Given the description of an element on the screen output the (x, y) to click on. 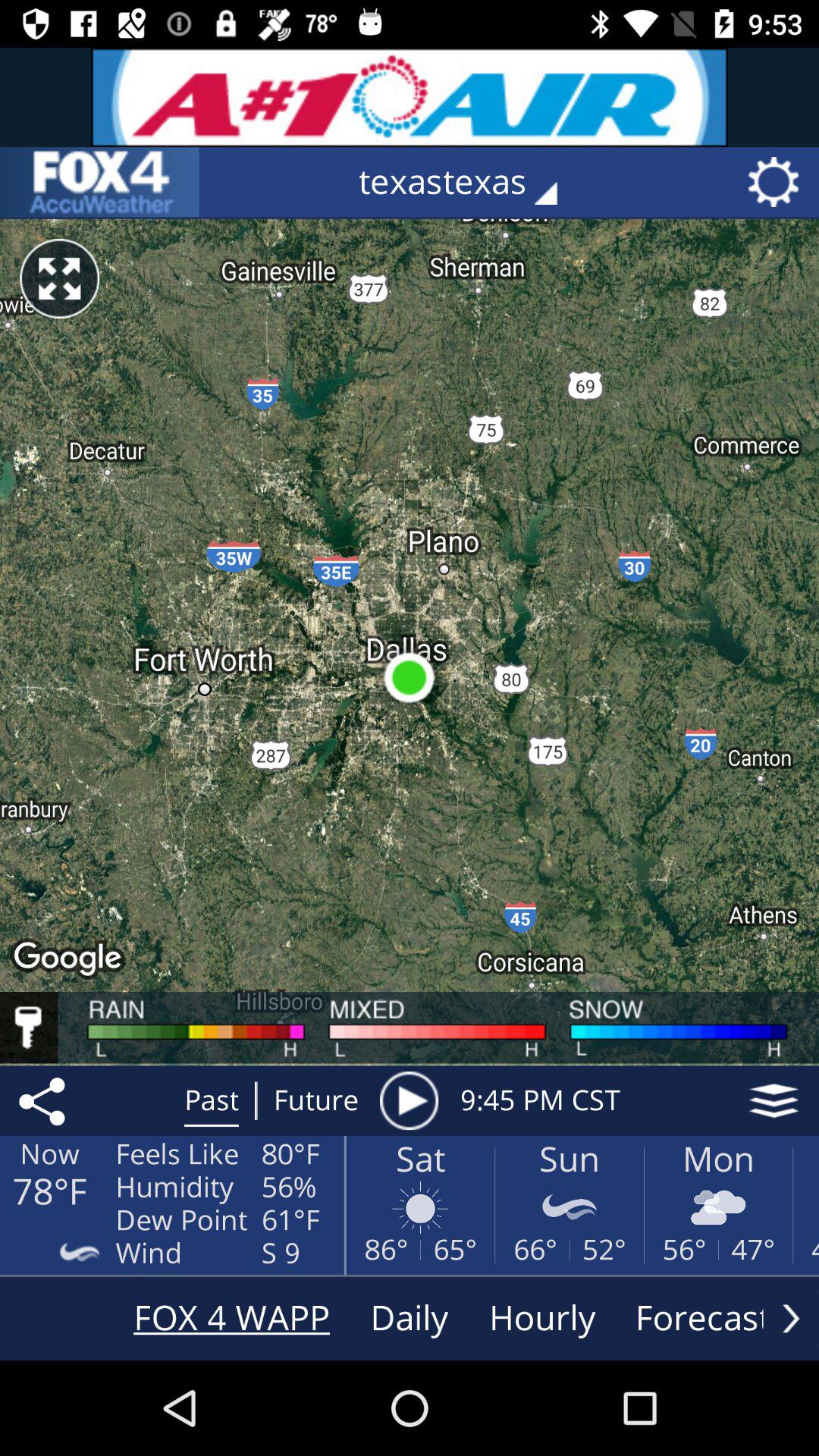
open item to the right of the future item (409, 1100)
